Given the description of an element on the screen output the (x, y) to click on. 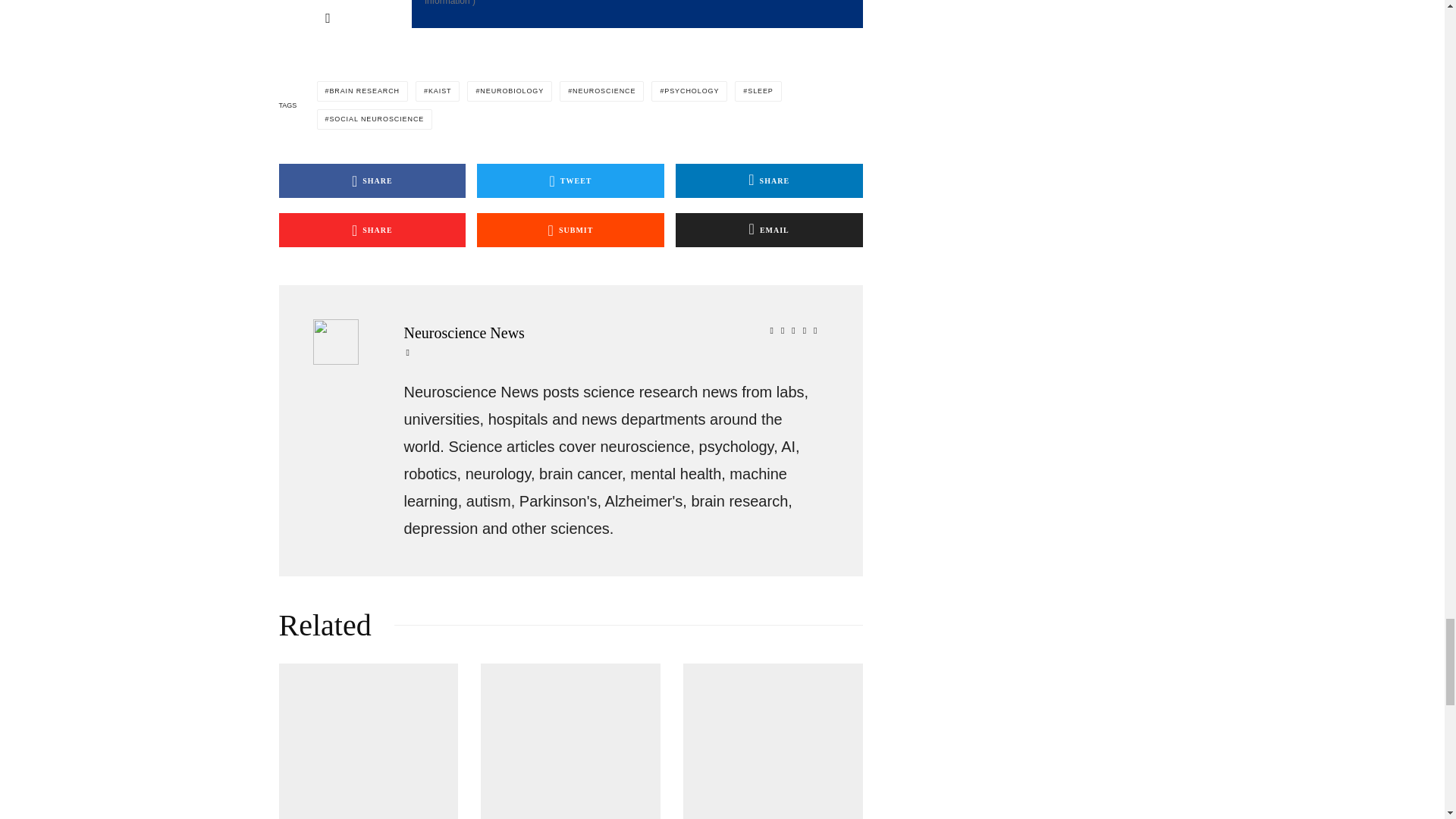
more information (489, 2)
SUBMIT (570, 229)
SLEEP (757, 91)
SHARE (372, 229)
BRAIN RESEARCH (363, 91)
PSYCHOLOGY (688, 91)
NEUROBIOLOGY (509, 91)
NEUROSCIENCE (601, 91)
KAIST (437, 91)
SOCIAL NEUROSCIENCE (374, 118)
EMAIL (769, 229)
TWEET (570, 180)
Neuroscience News (613, 332)
SHARE (372, 180)
SHARE (769, 180)
